Given the description of an element on the screen output the (x, y) to click on. 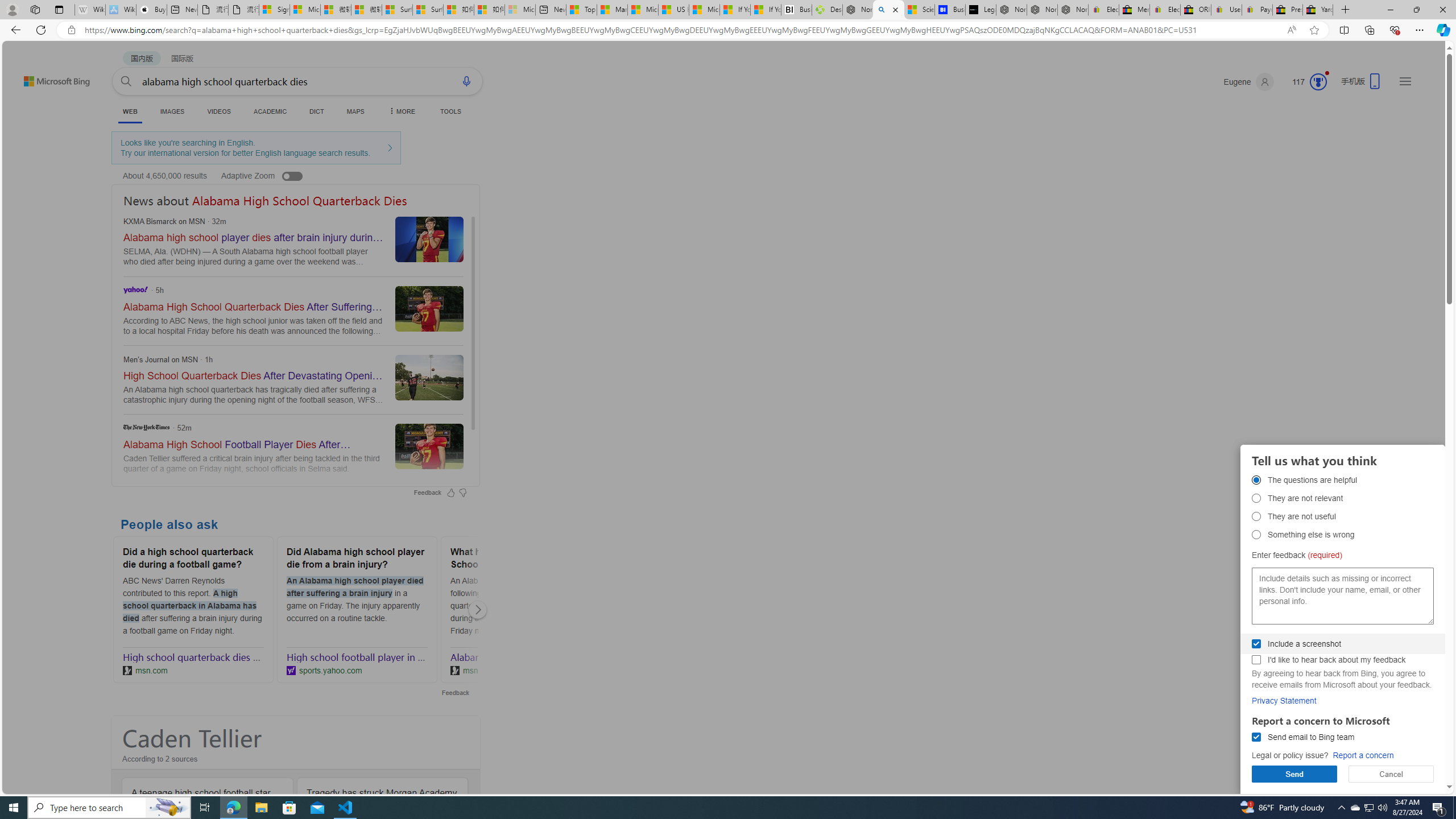
Something else is wrong Something else is wrong (1256, 533)
The questions are helpful The questions are helpful (1256, 479)
Send email to Bing team Send email to Bing team (1256, 737)
Cancel (1391, 773)
